Given the description of an element on the screen output the (x, y) to click on. 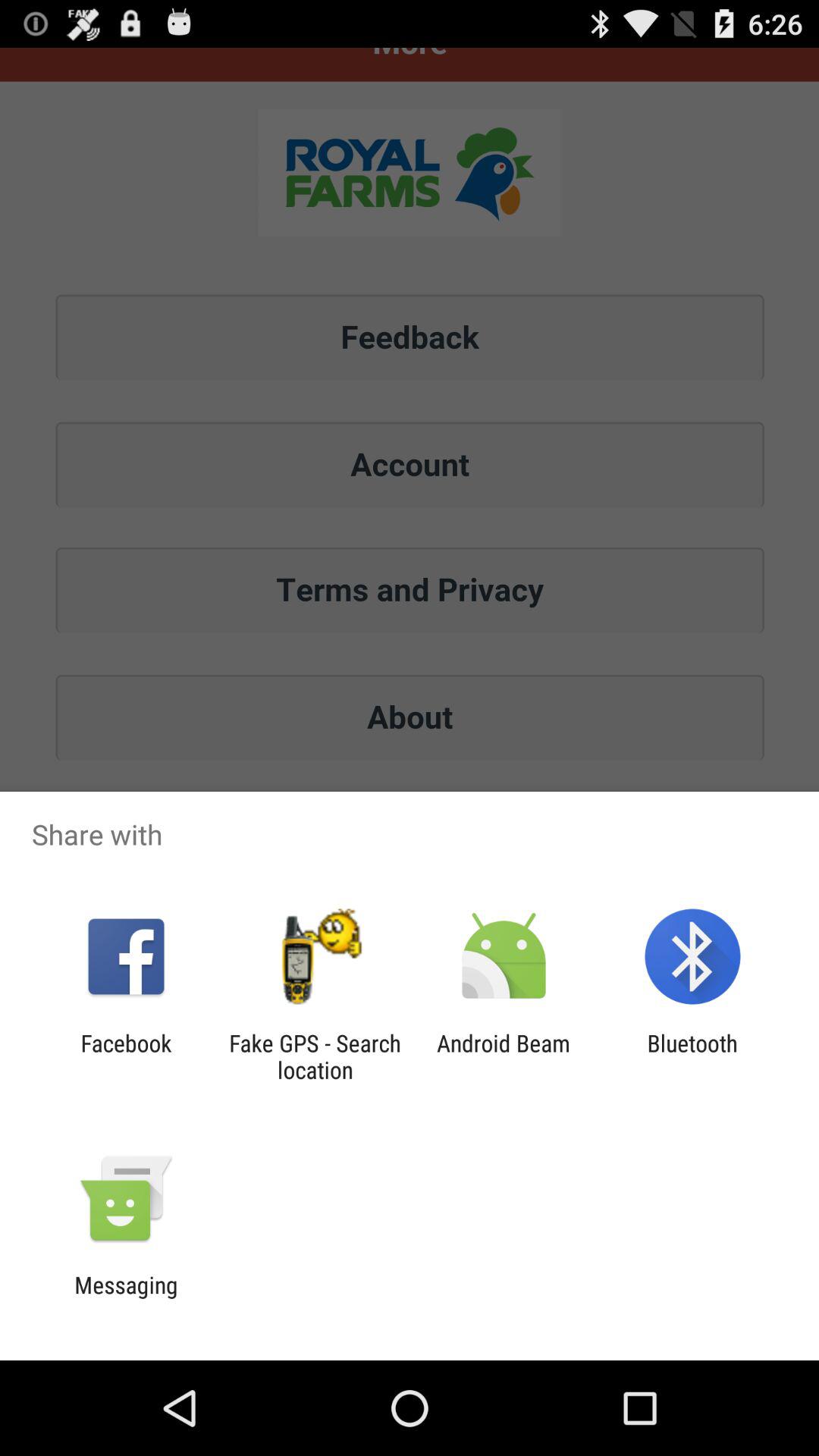
press icon next to android beam (692, 1056)
